Given the description of an element on the screen output the (x, y) to click on. 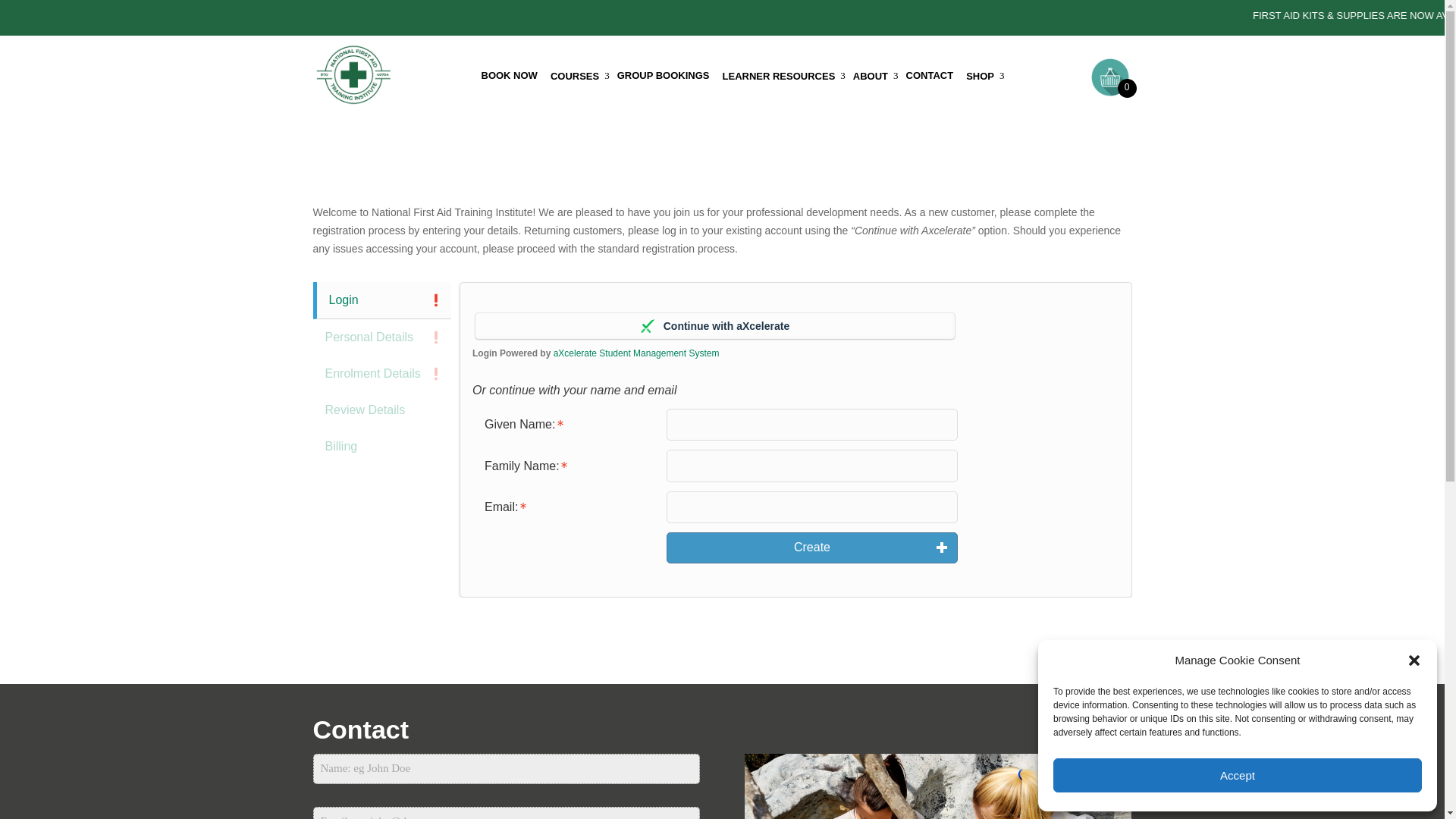
National First Aid Training Institute (353, 76)
BOOK NOW (510, 75)
Accept (1237, 775)
Family Name is required. (568, 465)
Given Name is required. (568, 424)
Email is required. (568, 507)
